Given the description of an element on the screen output the (x, y) to click on. 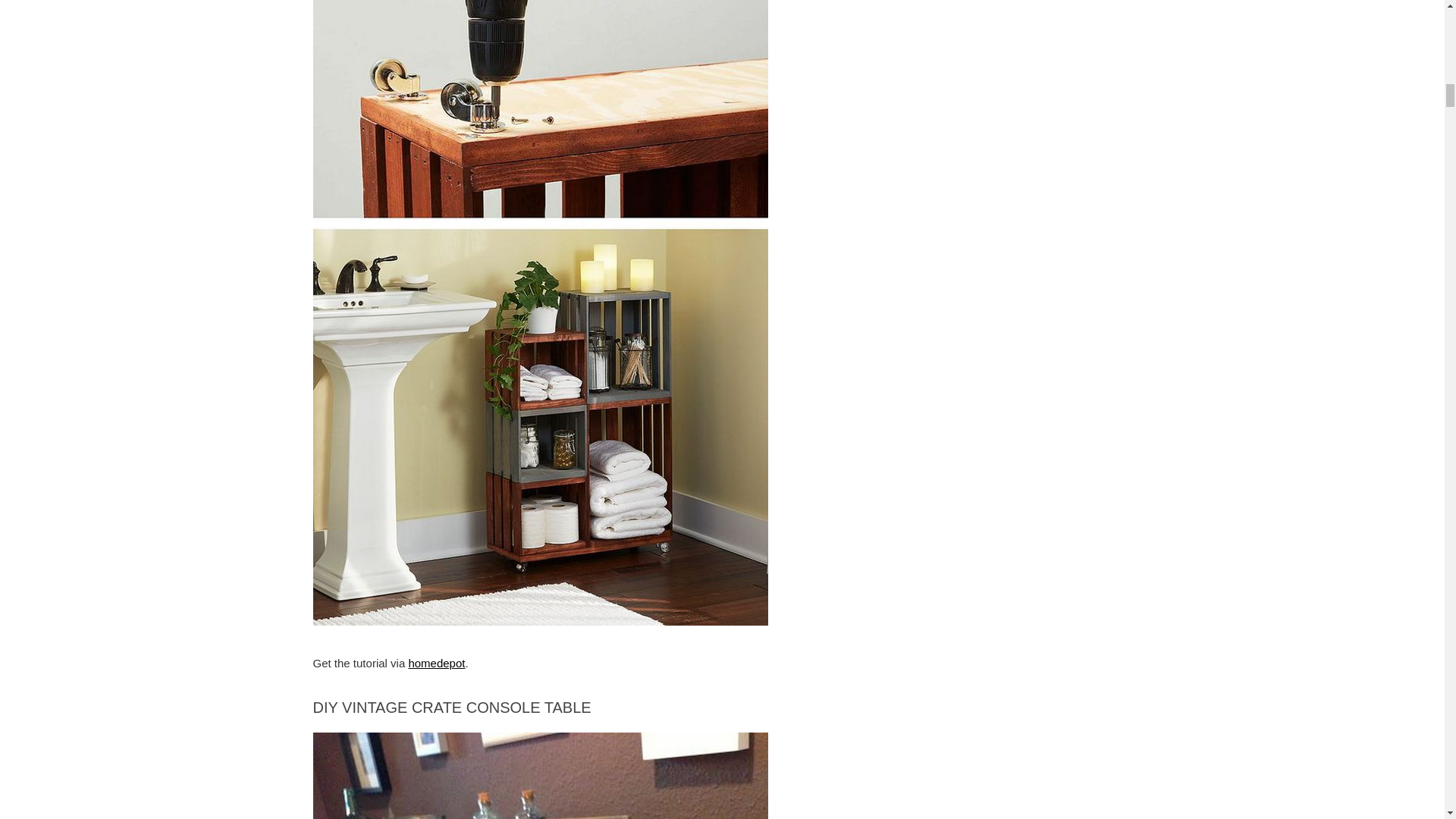
homedepot (435, 662)
